Given the description of an element on the screen output the (x, y) to click on. 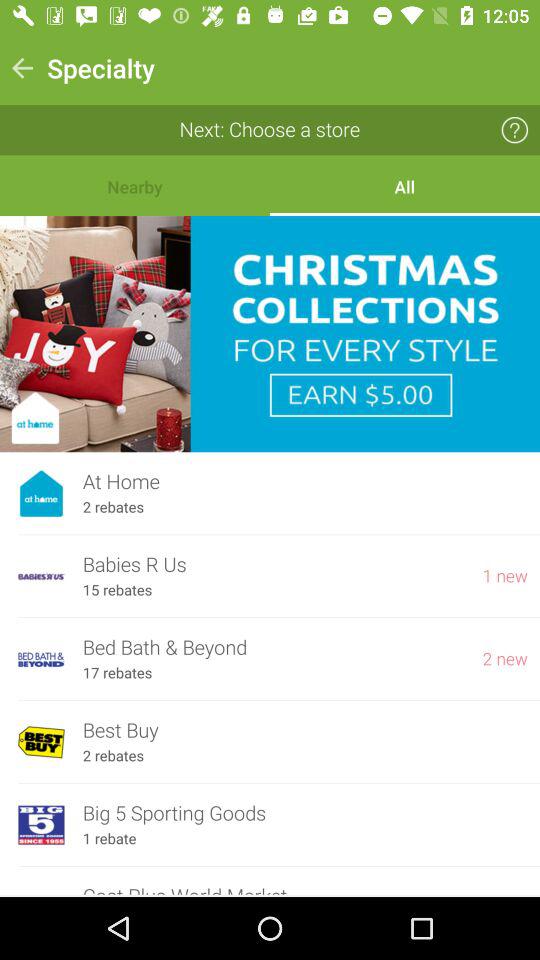
tap the big 5 sporting icon (305, 813)
